Given the description of an element on the screen output the (x, y) to click on. 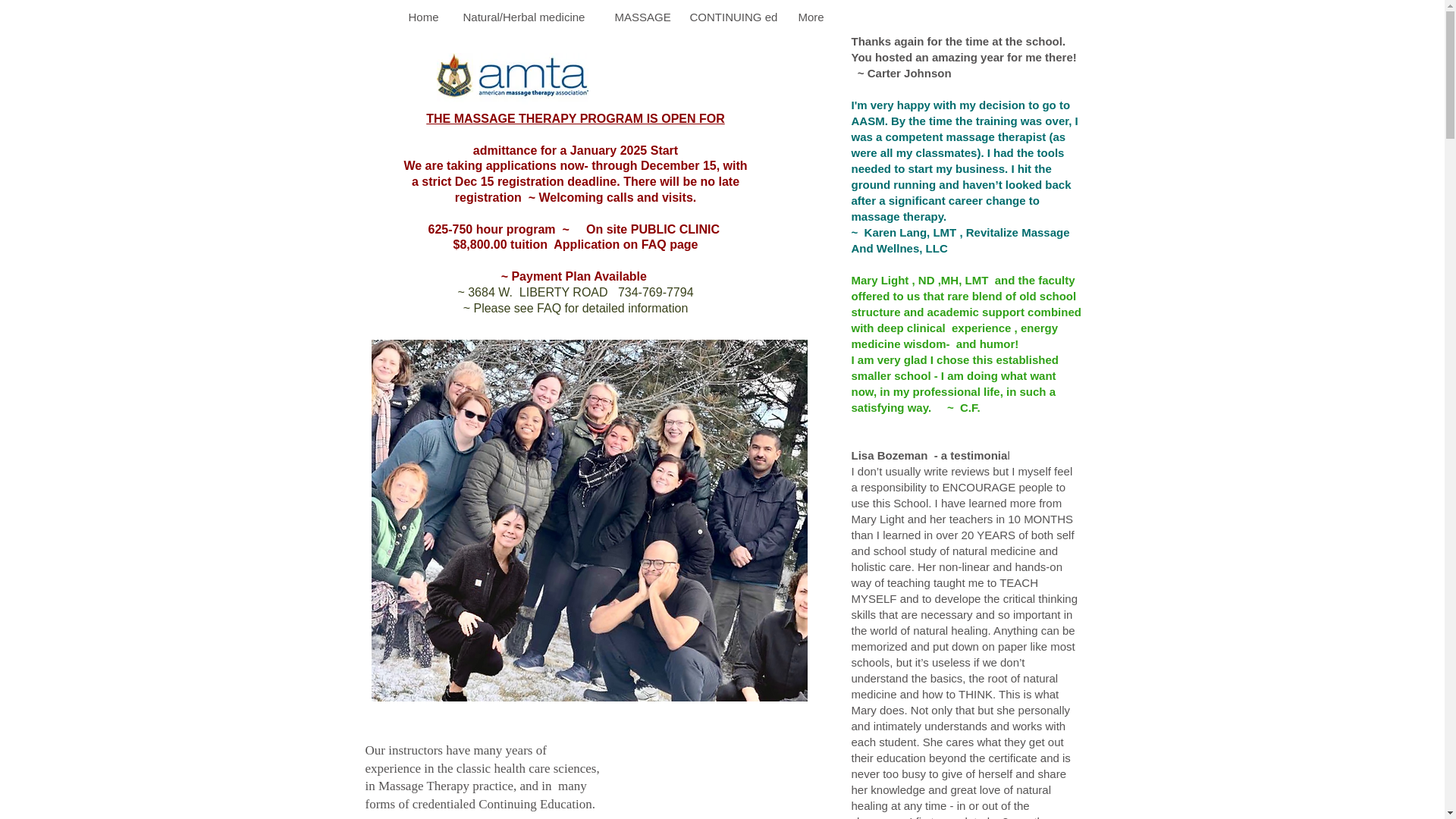
Home (424, 16)
Application for Program Admittance aasm  (463, 619)
MASSAGE (641, 16)
CONTINUING ed (732, 16)
amta.jpg (512, 89)
